Given the description of an element on the screen output the (x, y) to click on. 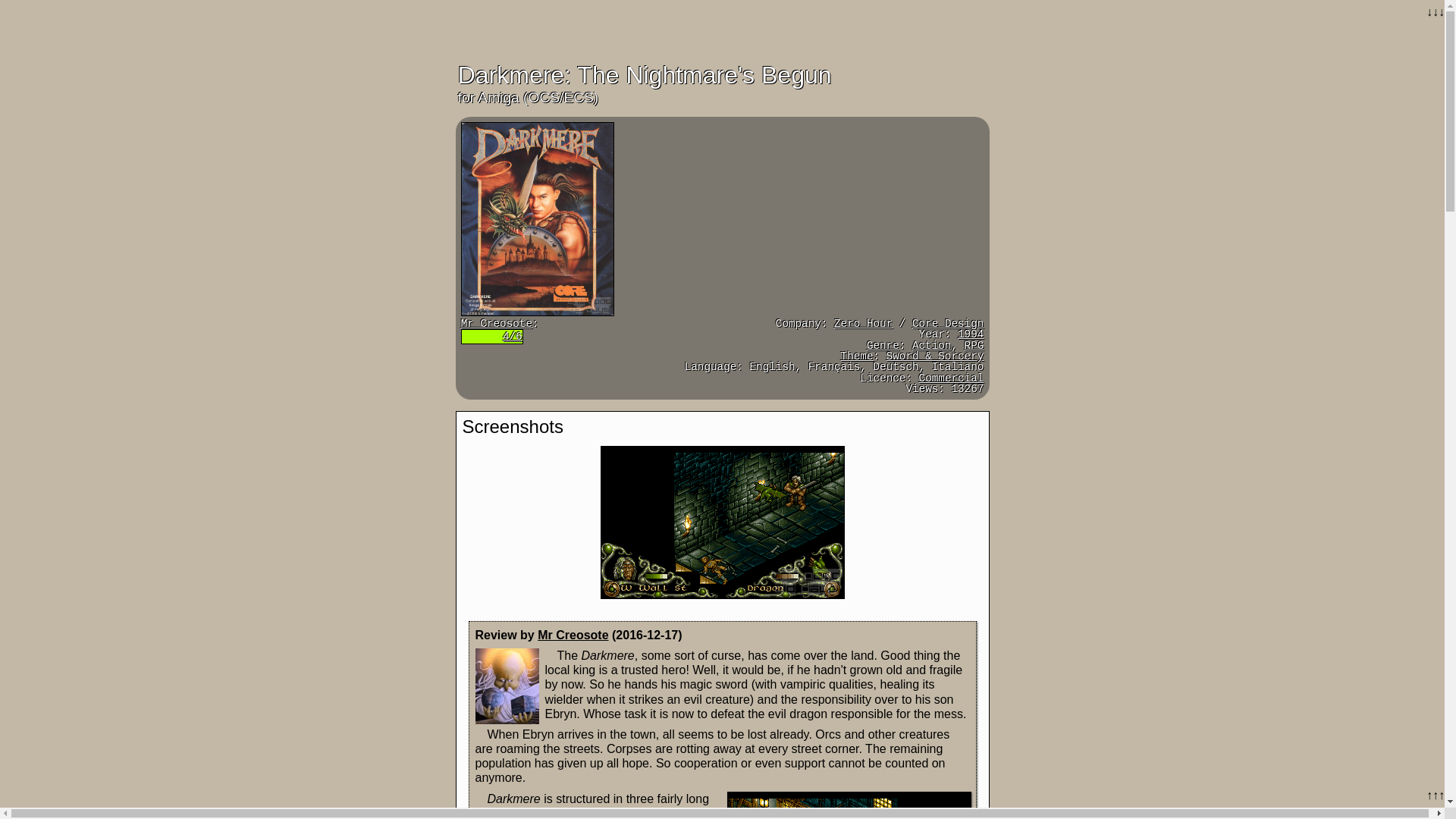
Amiga (497, 97)
? (857, 356)
Mr Creosote (572, 634)
RPG (973, 345)
Commercial (951, 378)
Mr Creosote (496, 323)
Action (931, 345)
Zero Hour (863, 323)
? (882, 345)
Core Design (948, 323)
Genre (882, 345)
1994 (971, 334)
Theme (857, 356)
